Given the description of an element on the screen output the (x, y) to click on. 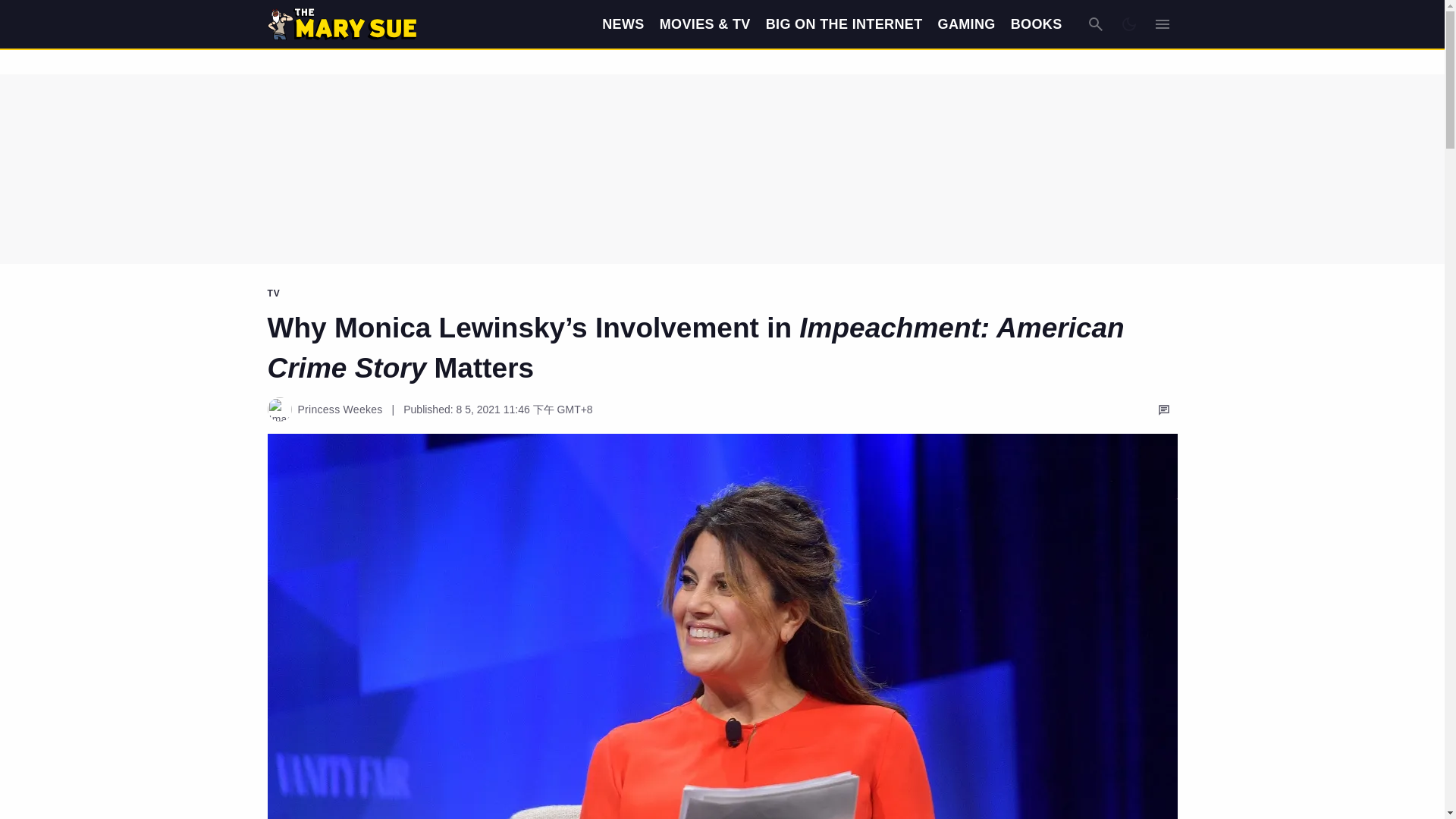
NEWS (622, 23)
Search (1094, 24)
Expand Menu (1161, 24)
BOOKS (1036, 23)
BIG ON THE INTERNET (844, 23)
GAMING (966, 23)
Dark Mode (1127, 24)
